Given the description of an element on the screen output the (x, y) to click on. 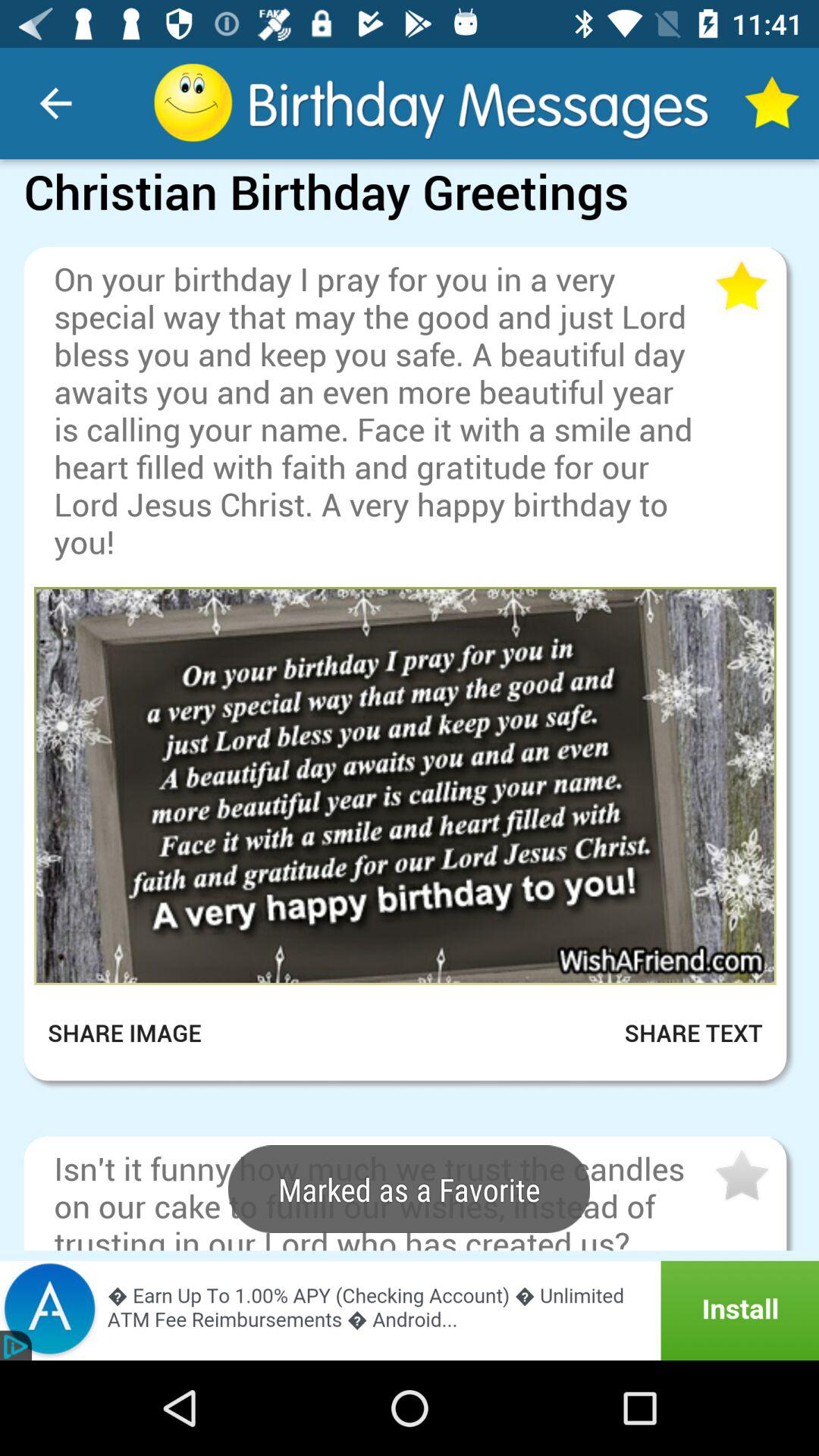
flip to share text item (674, 1032)
